Given the description of an element on the screen output the (x, y) to click on. 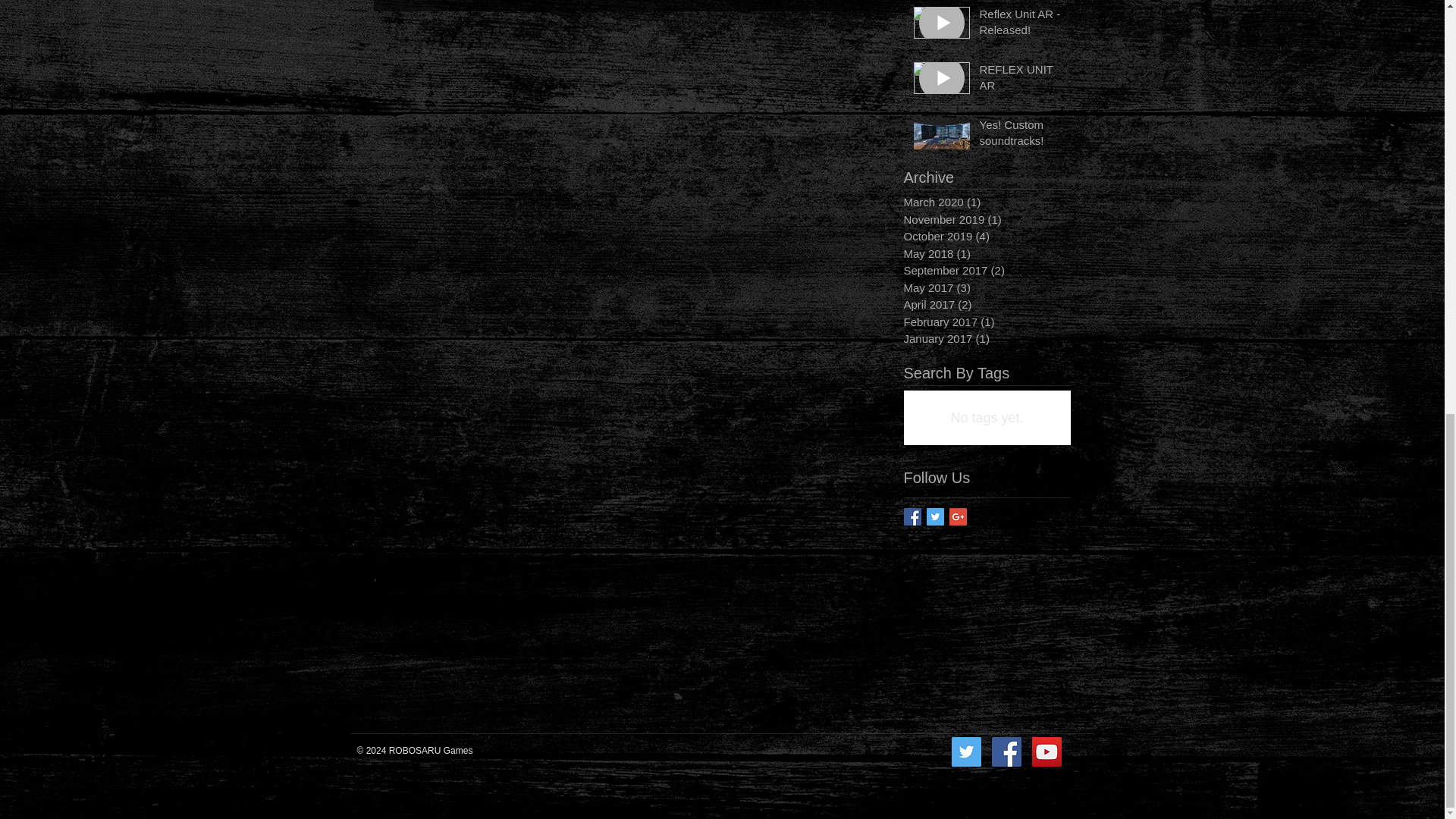
Yes! Custom soundtracks! (1020, 135)
Reflex Unit AR - Released! (1020, 24)
REFLEX UNIT AR (1020, 80)
